Given the description of an element on the screen output the (x, y) to click on. 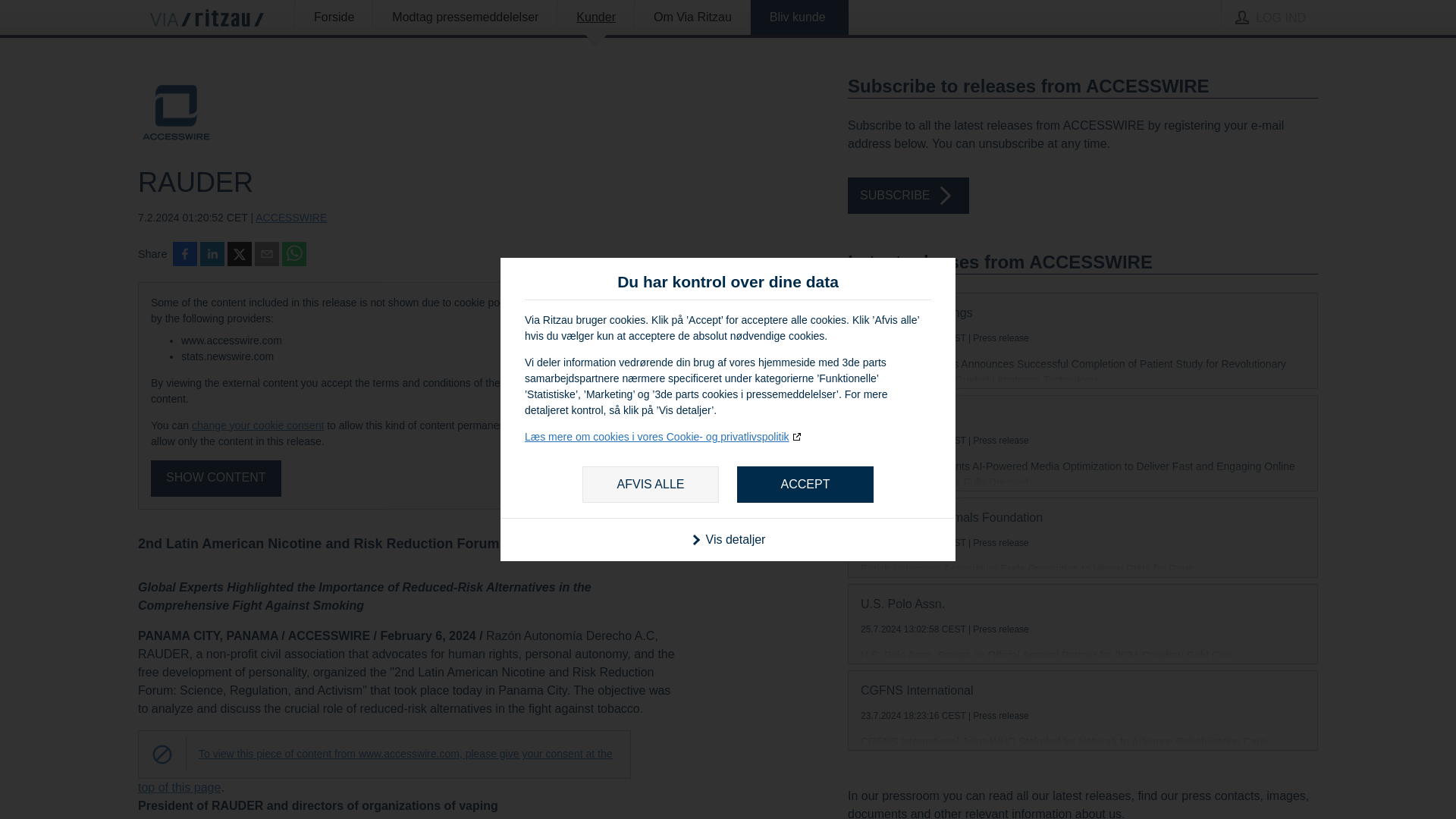
Om Via Ritzau (691, 17)
AFVIS ALLE (650, 484)
Vis detaljer (727, 539)
Kunder (595, 17)
Modtag pressemeddelelser (465, 17)
ACCEPT (804, 484)
Forside (333, 17)
